Given the description of an element on the screen output the (x, y) to click on. 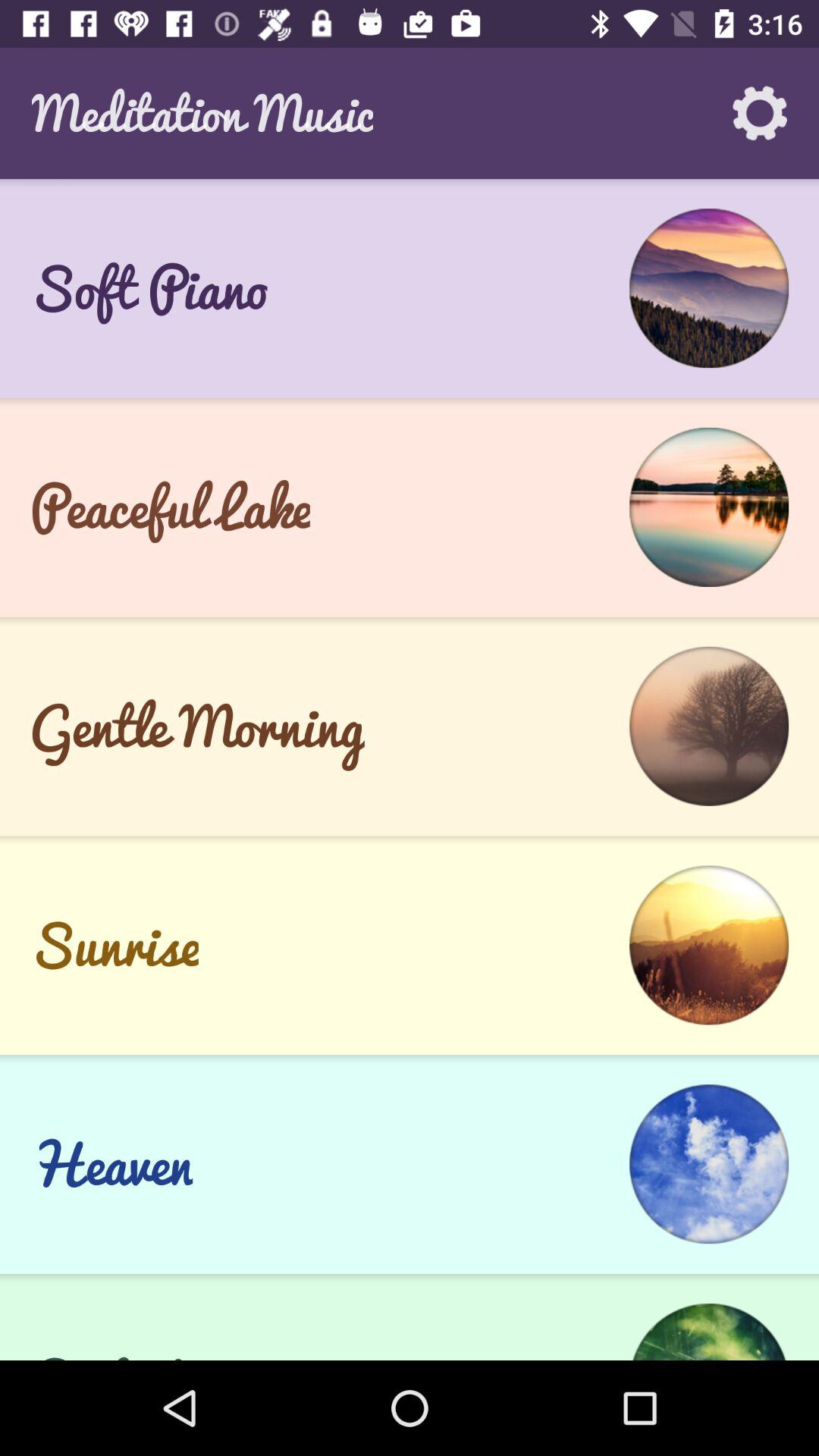
scroll to the soft piano app (148, 288)
